Given the description of an element on the screen output the (x, y) to click on. 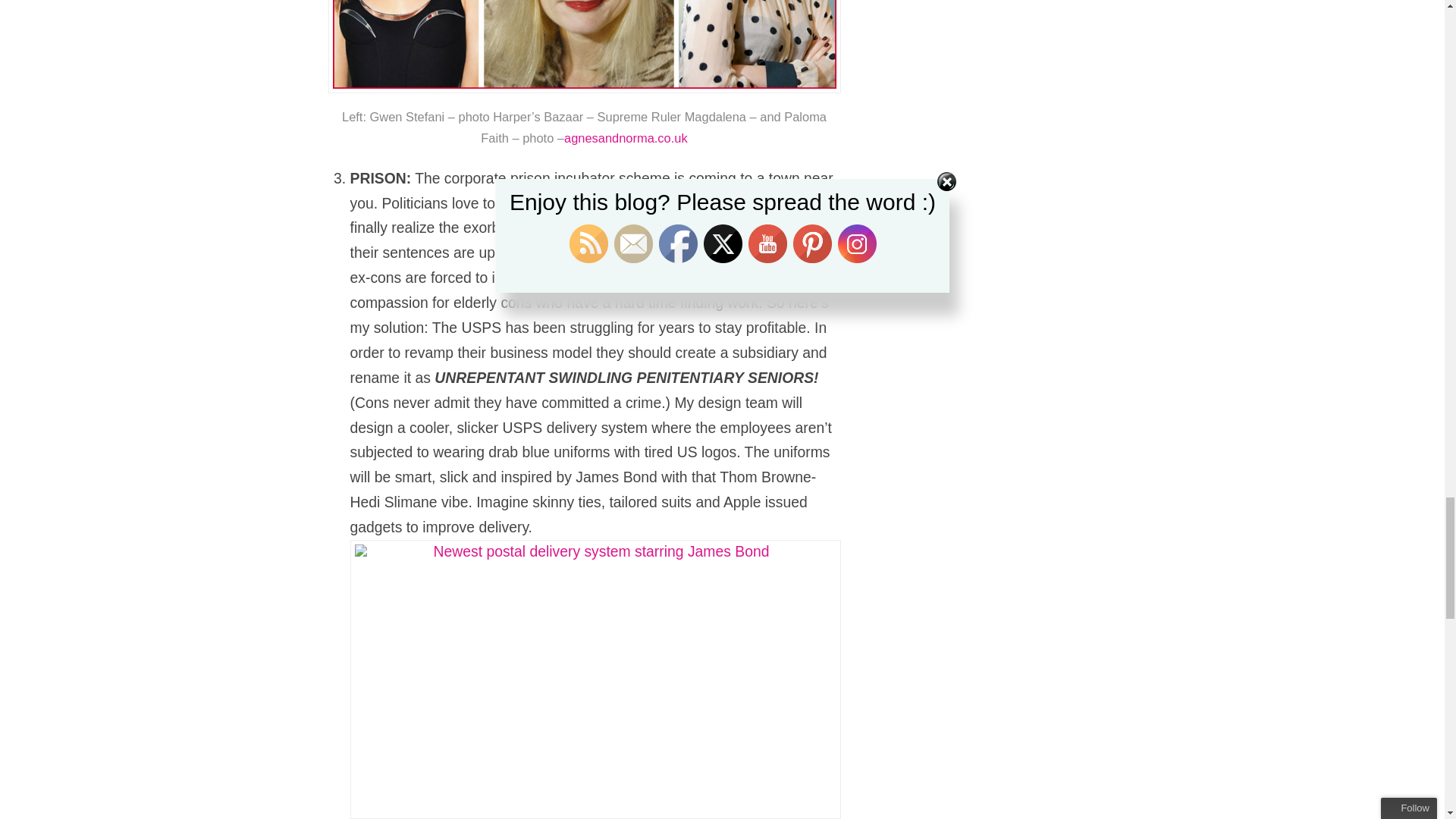
agnesandnorma.co.uk (625, 137)
